Given the description of an element on the screen output the (x, y) to click on. 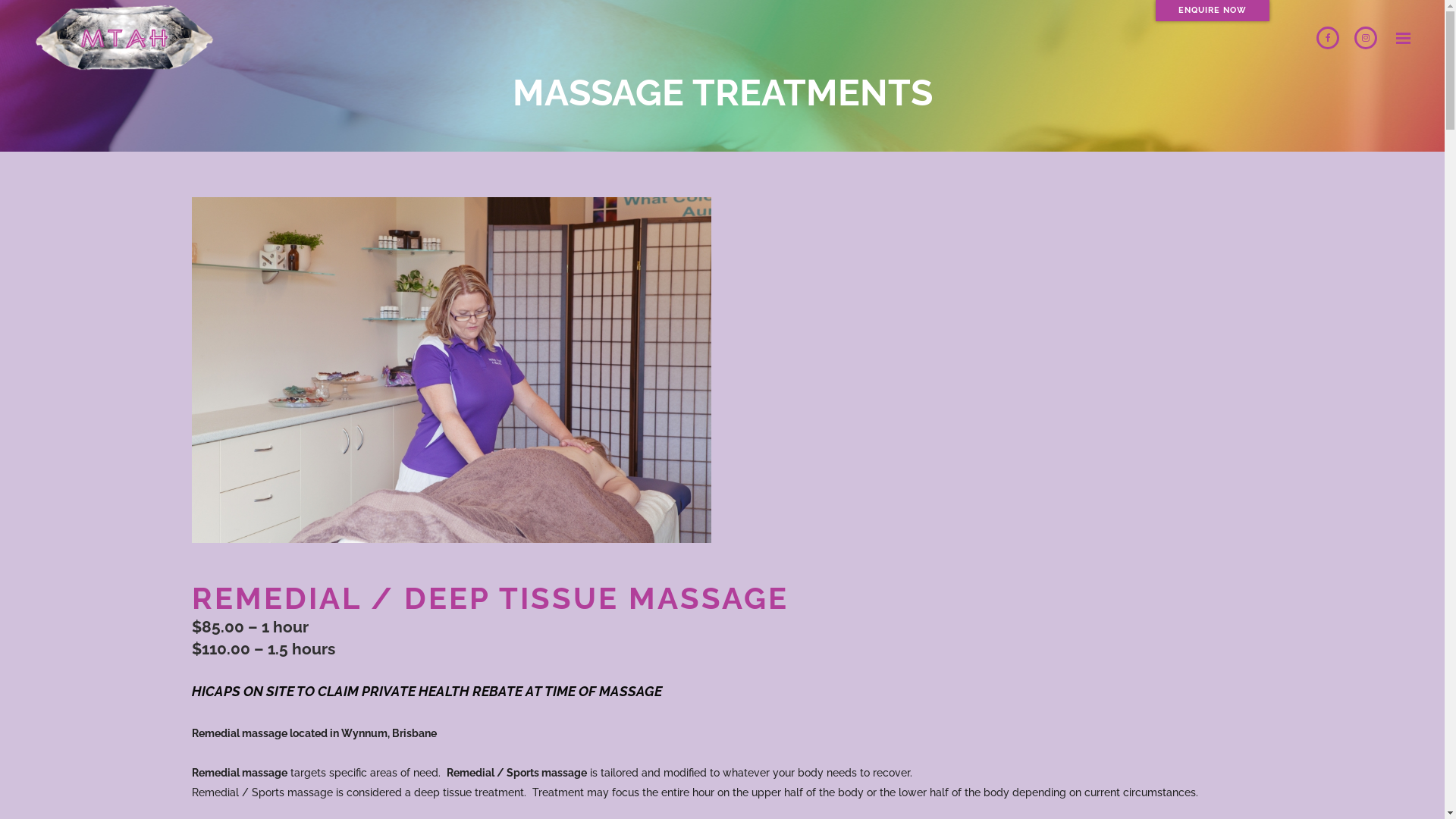
  Element type: text (1400, 37)
IMG_3036 (1) Element type: hover (450, 369)
